Given the description of an element on the screen output the (x, y) to click on. 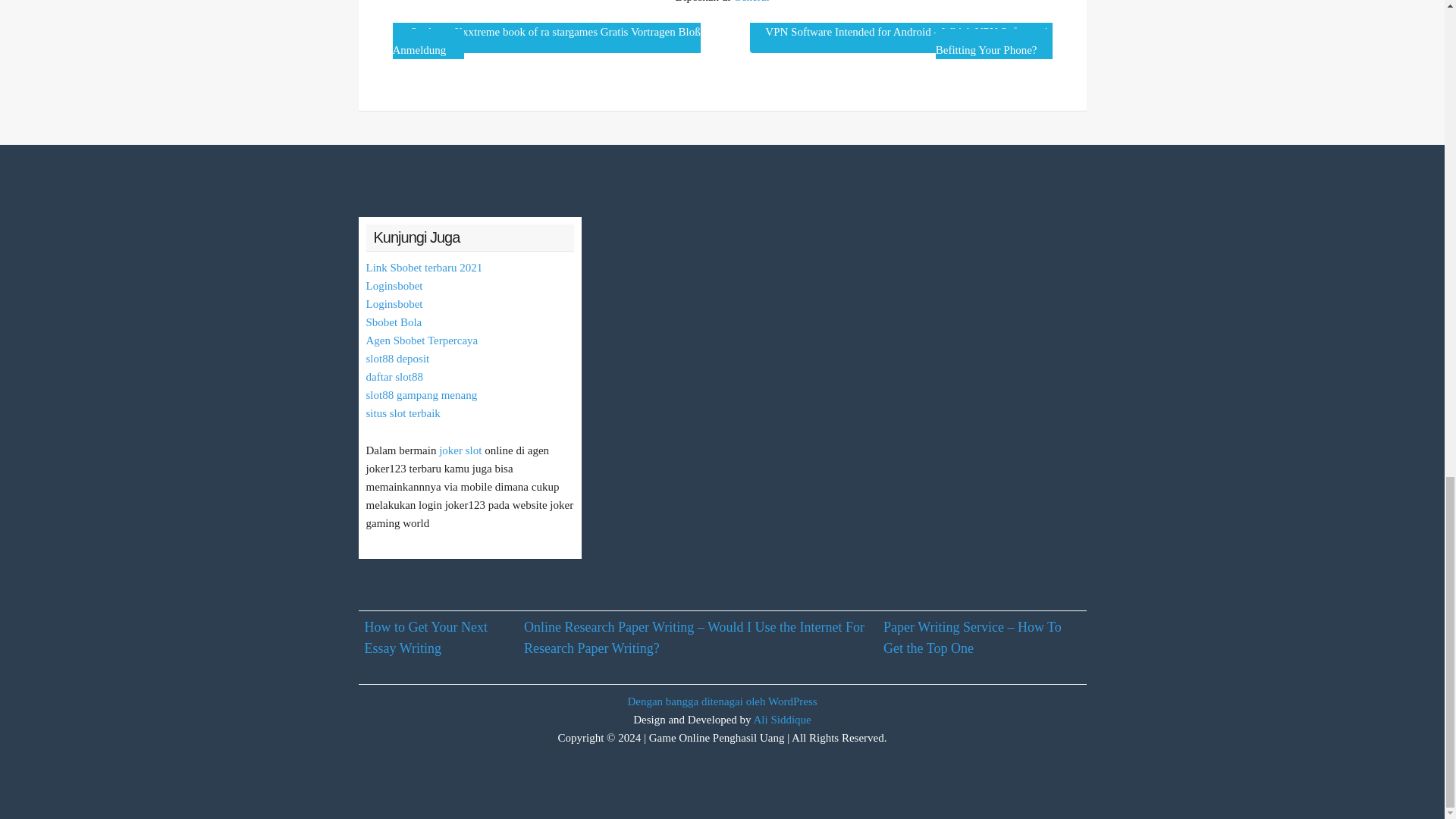
Loginsbobet (393, 304)
Ali Siddique (782, 719)
joker slot (460, 450)
Dengan bangga ditenagai oleh WordPress (721, 701)
Agen Sbobet Terpercaya (421, 340)
slot88 gampang menang (421, 395)
situs slot terbaik (402, 413)
slot88 deposit (397, 358)
daftar slot88 (393, 377)
Sbobet Bola (393, 322)
Link Sbobet terbaru 2021 (423, 267)
Loginsbobet (393, 285)
General (750, 1)
How to Get Your Next Essay Writing (425, 637)
